Given the description of an element on the screen output the (x, y) to click on. 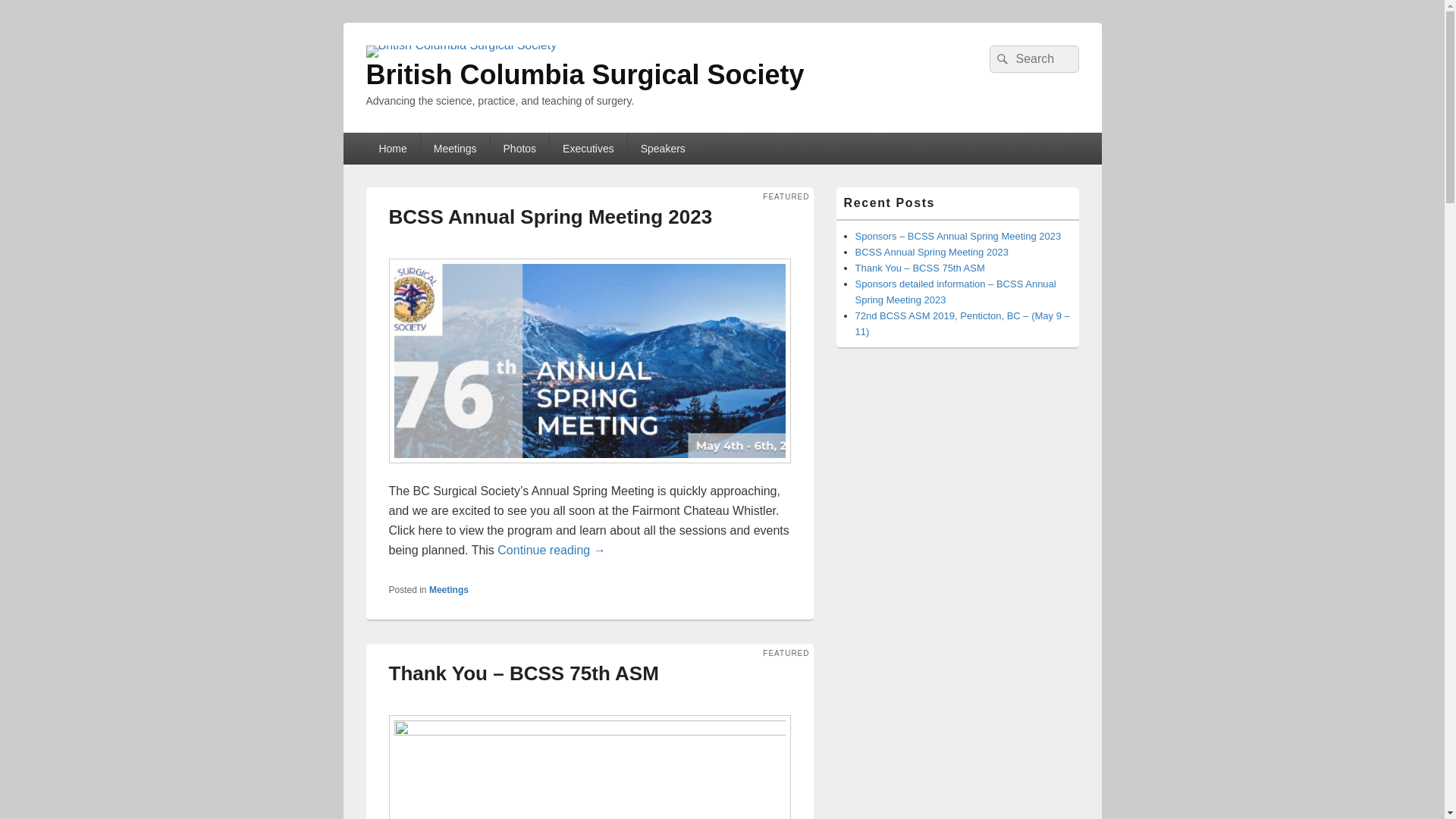
BCSS Annual Spring Meeting 2023 Element type: text (931, 251)
Search for: Element type: hover (1033, 58)
Meetings Element type: text (454, 148)
Meetings Element type: text (448, 589)
May 7, 2022 Element type: text (457, 698)
British Columbia Surgical Society Element type: text (584, 74)
February 15, 2023 Element type: text (470, 242)
Photos Element type: text (519, 148)
Executives Element type: text (588, 148)
Home Element type: text (392, 148)
Speakers Element type: text (662, 148)
Admin Element type: text (511, 698)
Permalink to BCSS Annual Spring Meeting 2023 Element type: hover (589, 470)
BCSS Annual Spring Meeting 2023 Element type: text (550, 216)
Admin Element type: text (538, 242)
Search Element type: text (999, 58)
